Given the description of an element on the screen output the (x, y) to click on. 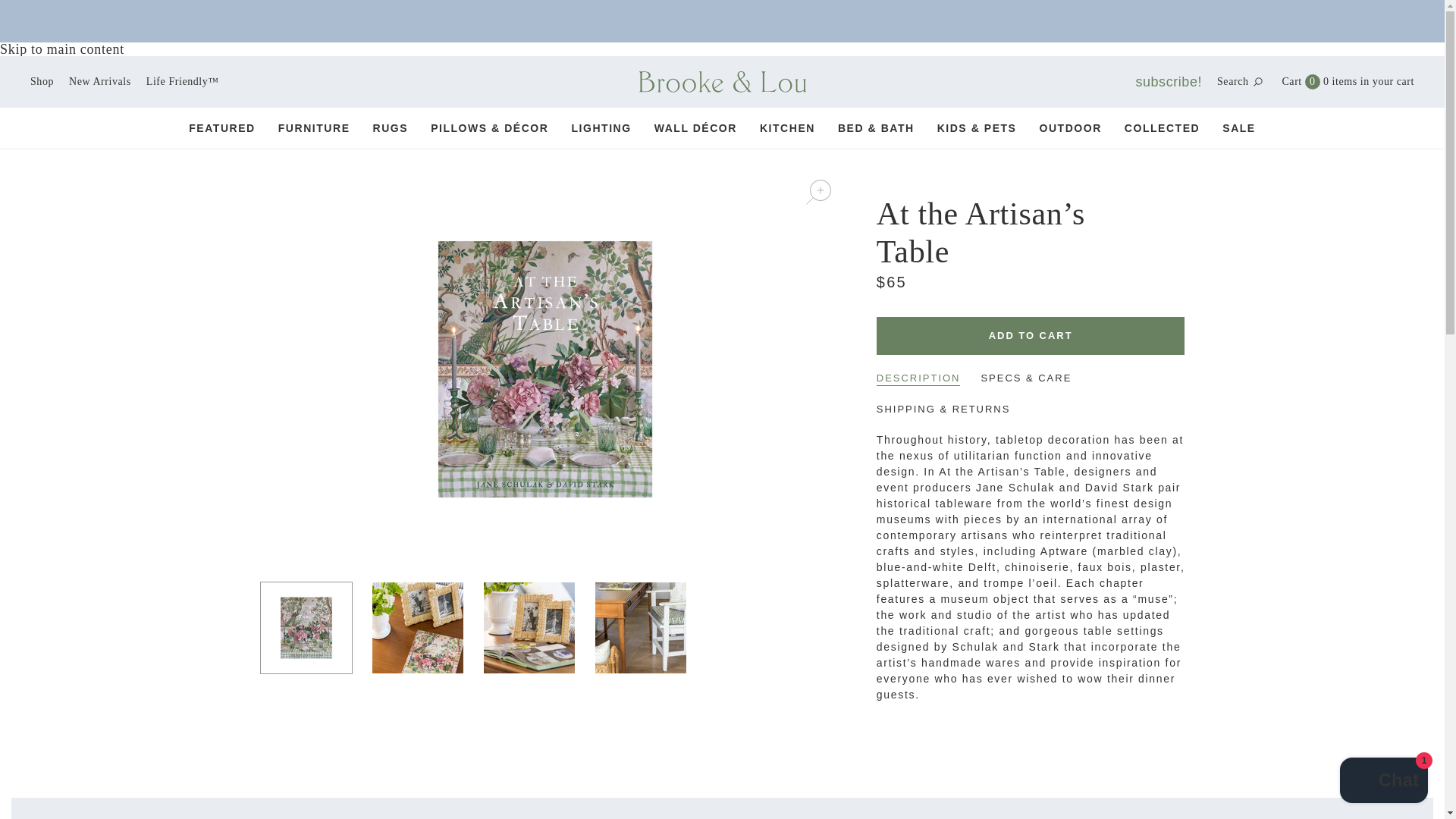
Search (1232, 81)
FURNITURE (314, 127)
subscribe! (1168, 81)
Skip to main content (61, 48)
FEATURED (222, 127)
Shopify online store chat (1300, 81)
KITCHEN (1383, 781)
COLLECTED (787, 127)
Add To Cart (1161, 127)
New Arrivals (1030, 335)
Shop (99, 81)
LIGHTING (41, 81)
OUTDOOR (600, 127)
